Given the description of an element on the screen output the (x, y) to click on. 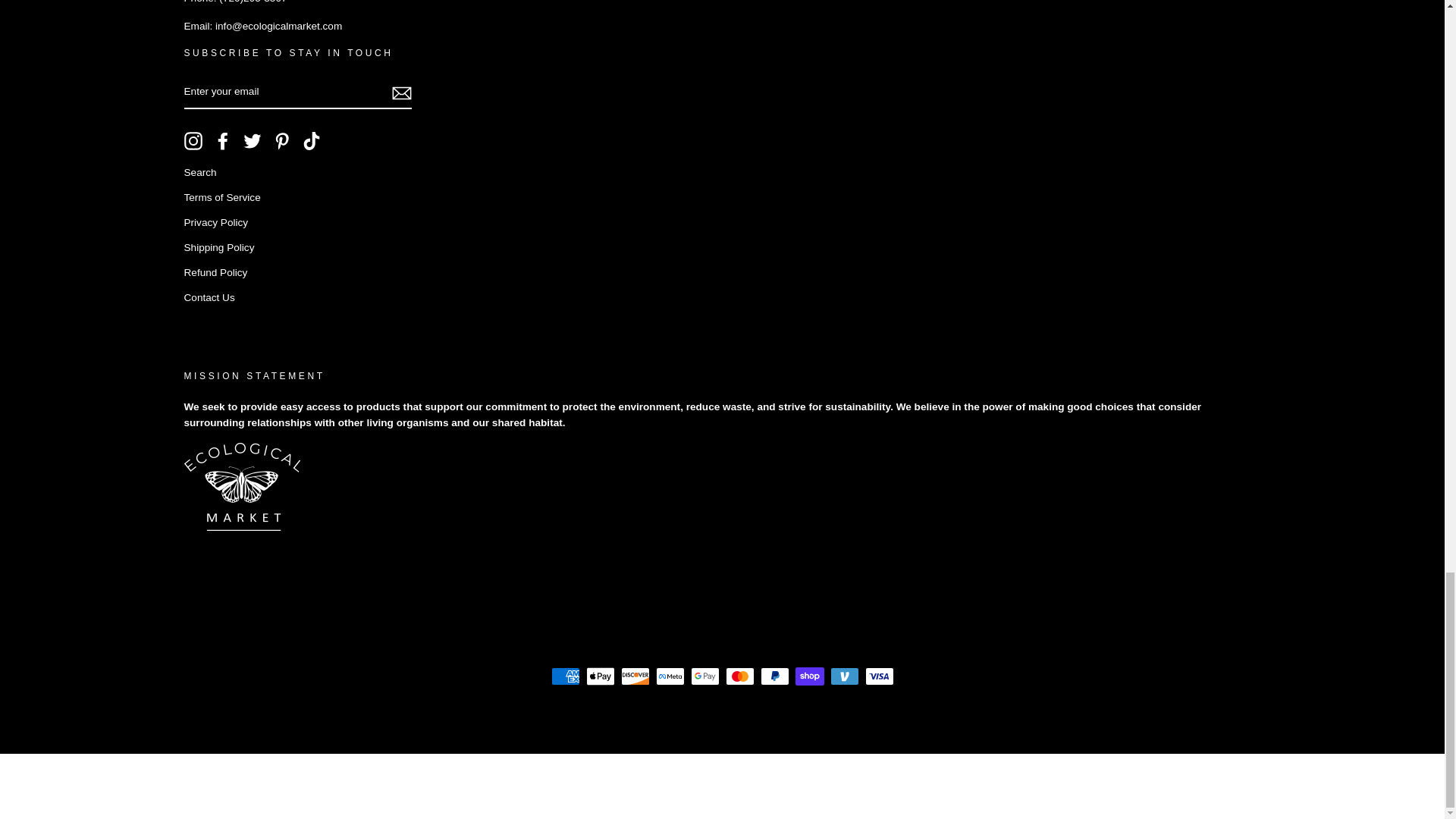
Ecological Market on Facebook (222, 140)
Ecological Market on Twitter (251, 140)
Ecological Market on TikTok (310, 140)
American Express (564, 676)
Ecological Market on Instagram (192, 140)
Ecological Market on Pinterest (282, 140)
